Given the description of an element on the screen output the (x, y) to click on. 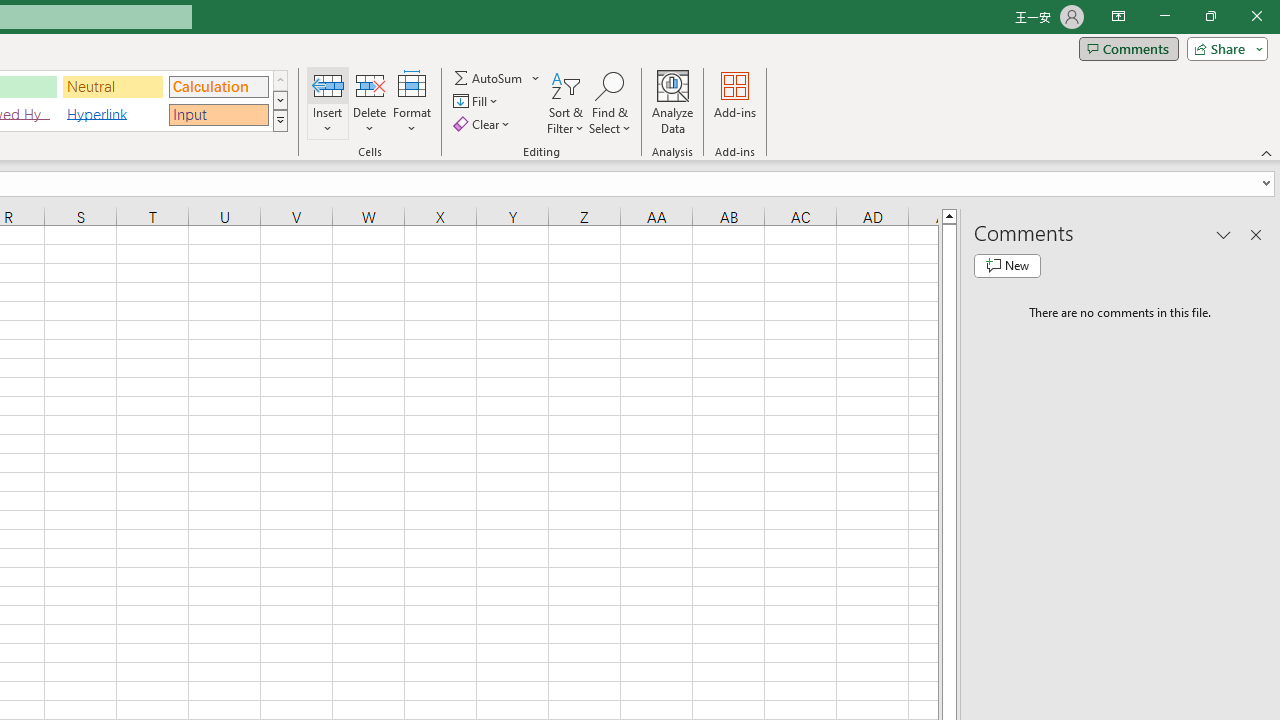
Input (218, 114)
Clear (483, 124)
Calculation (218, 86)
Insert Cells (328, 84)
Sort & Filter (566, 102)
Ribbon Display Options (1118, 16)
Neutral (113, 86)
Comments (1128, 48)
New comment (1007, 265)
Delete (369, 102)
Restore Down (1210, 16)
Row Down (280, 100)
